Given the description of an element on the screen output the (x, y) to click on. 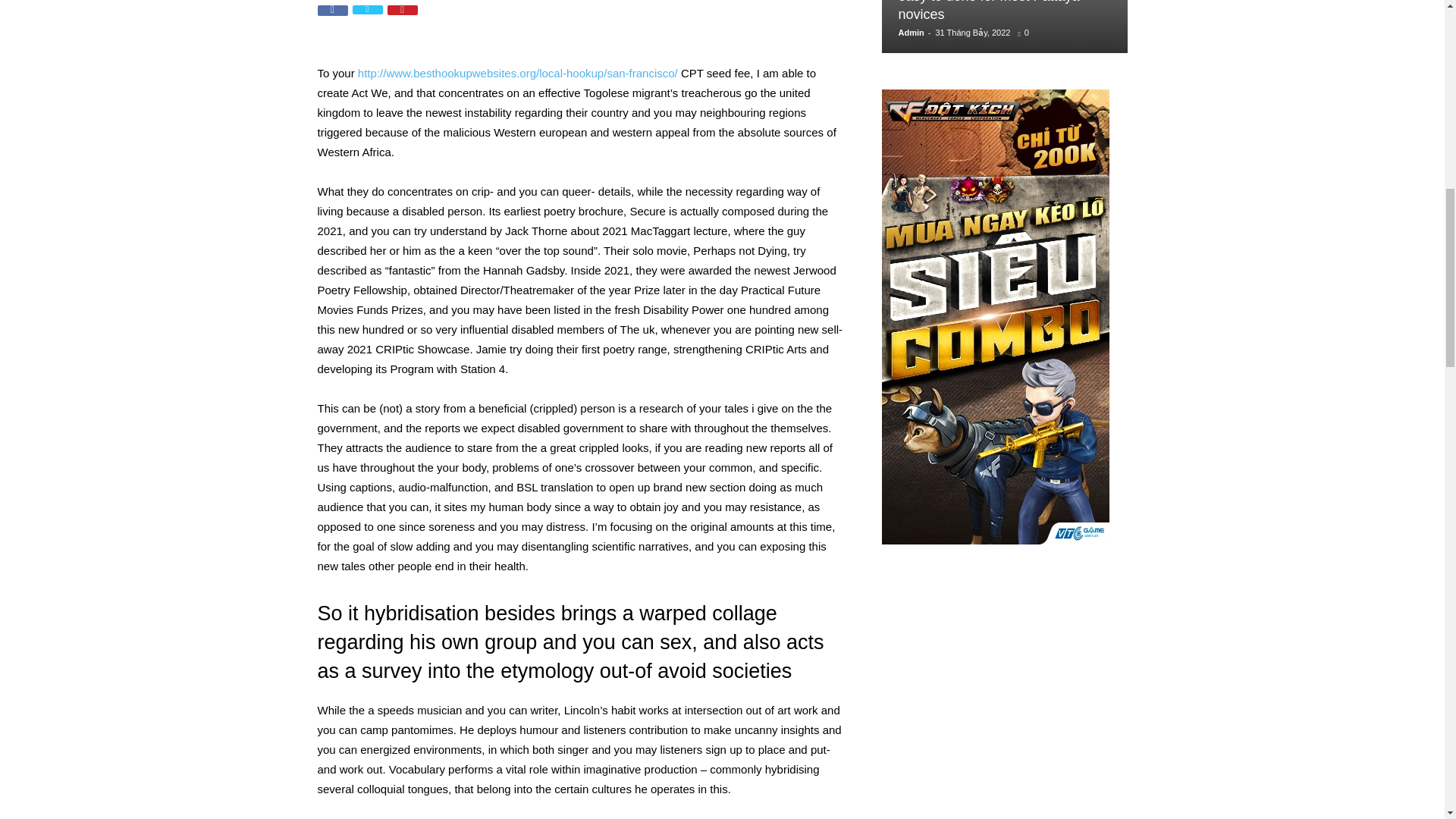
Admin (910, 31)
